Given the description of an element on the screen output the (x, y) to click on. 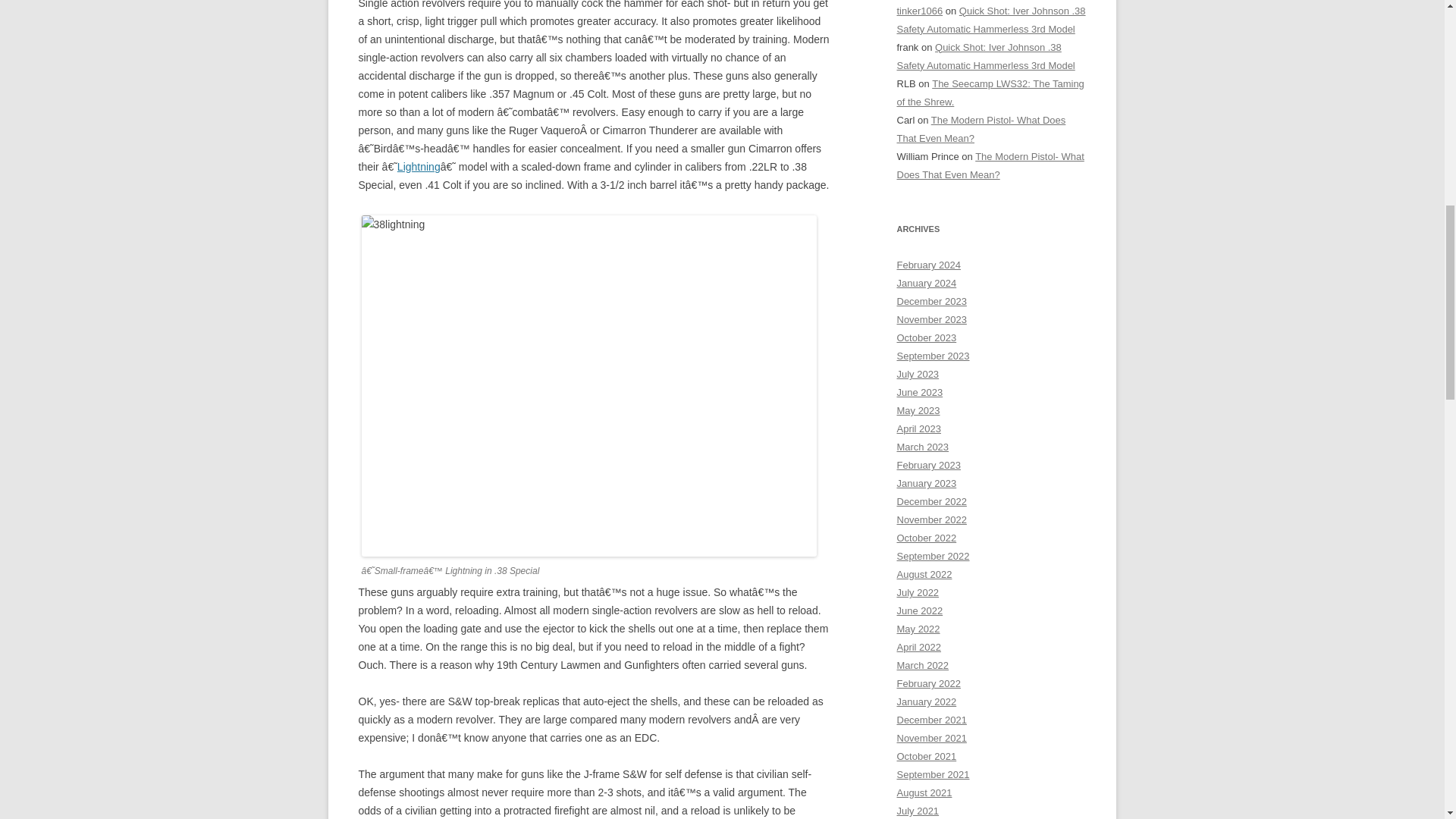
Lightning (419, 166)
February 2023 (927, 464)
February 2024 (927, 265)
May 2023 (917, 410)
December 2023 (931, 301)
November 2023 (931, 319)
March 2023 (922, 446)
September 2023 (932, 355)
tinker1066 (919, 10)
April 2023 (918, 428)
January 2023 (926, 482)
The Seecamp LWS32: The Taming of the Shrew. (989, 92)
July 2023 (917, 374)
